Given the description of an element on the screen output the (x, y) to click on. 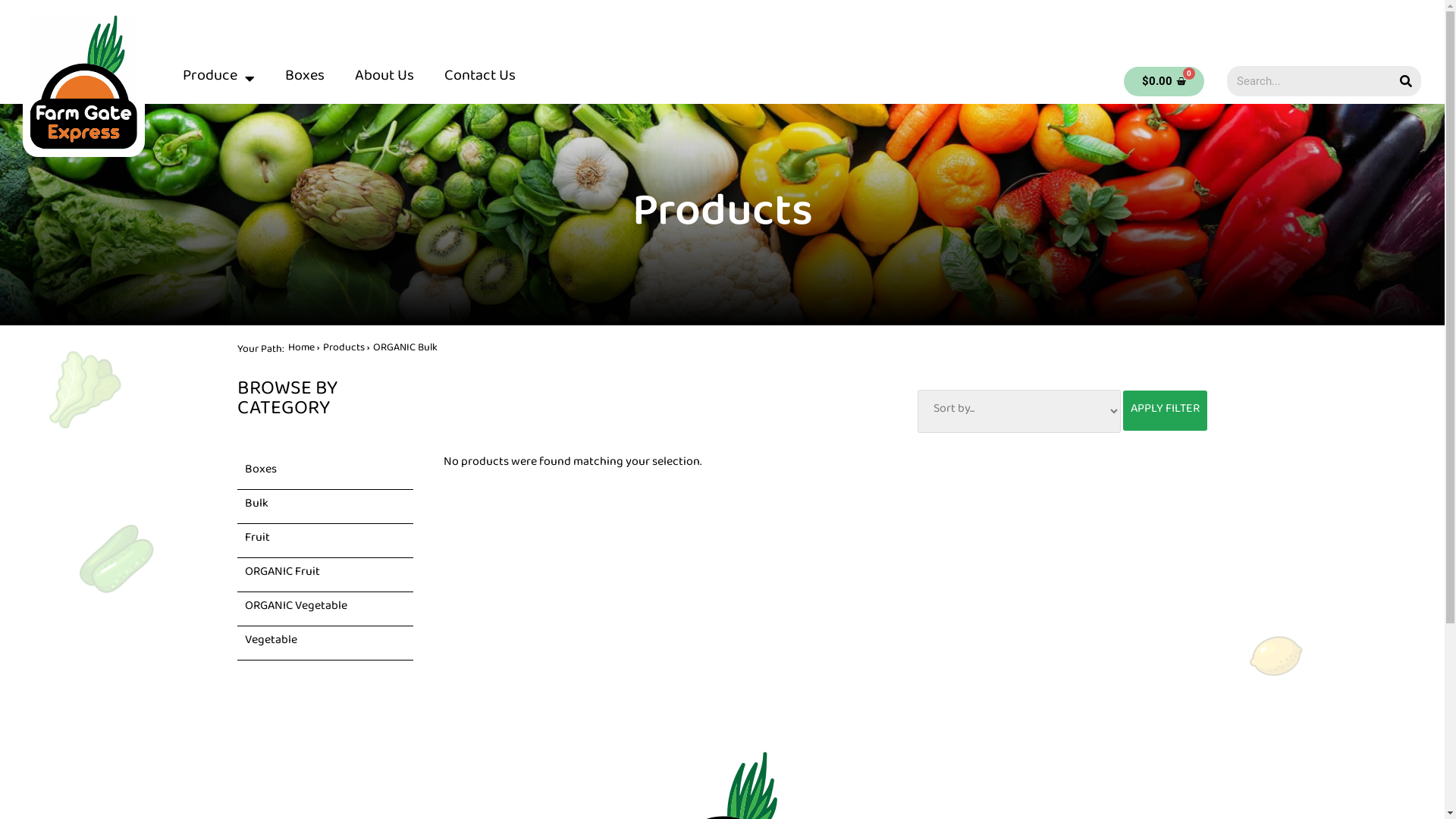
Contact Us Element type: text (479, 78)
Search Element type: hover (1405, 80)
Vegetable Element type: text (270, 642)
About Us Element type: text (384, 78)
APPLY FILTER Element type: text (1165, 410)
Search Element type: hover (1308, 80)
Boxes Element type: text (304, 78)
Produce Element type: text (218, 78)
Bulk Element type: text (255, 506)
$0.00
0 Element type: text (1163, 81)
Boxes Element type: text (260, 472)
ORGANIC Fruit Element type: text (281, 574)
Home Element type: text (301, 350)
ORGANIC Vegetable Element type: text (295, 608)
Products Element type: text (343, 350)
Fruit Element type: text (256, 540)
